Given the description of an element on the screen output the (x, y) to click on. 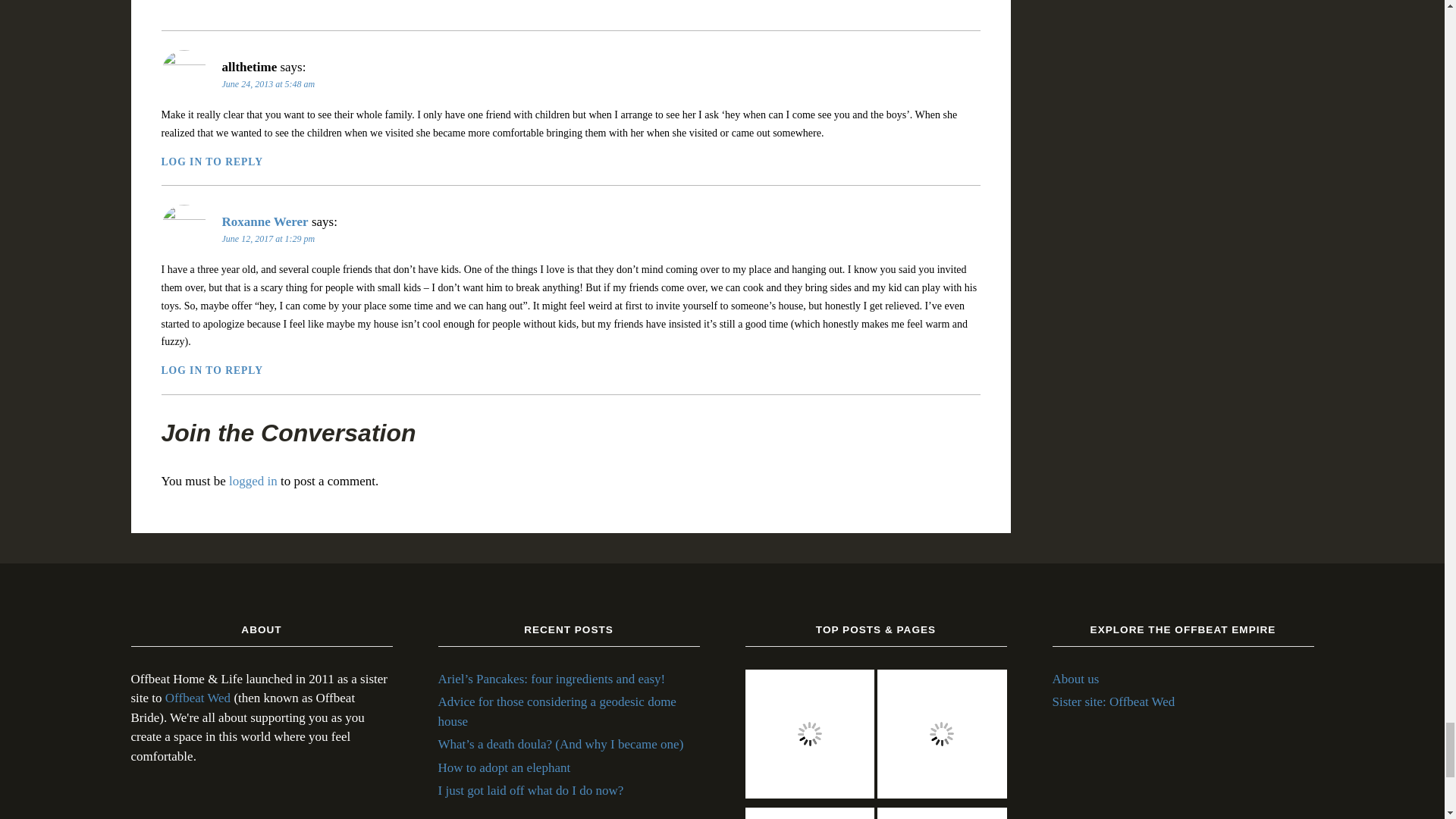
Family nudity: my sons see me nude at home (809, 736)
How to decorate and de-boring an above-ground pool (809, 813)
DIYing a vertical pumpkin patch in our tiny urban backyard (942, 736)
The Incident: my son was bullied for having gay parents (942, 813)
